Given the description of an element on the screen output the (x, y) to click on. 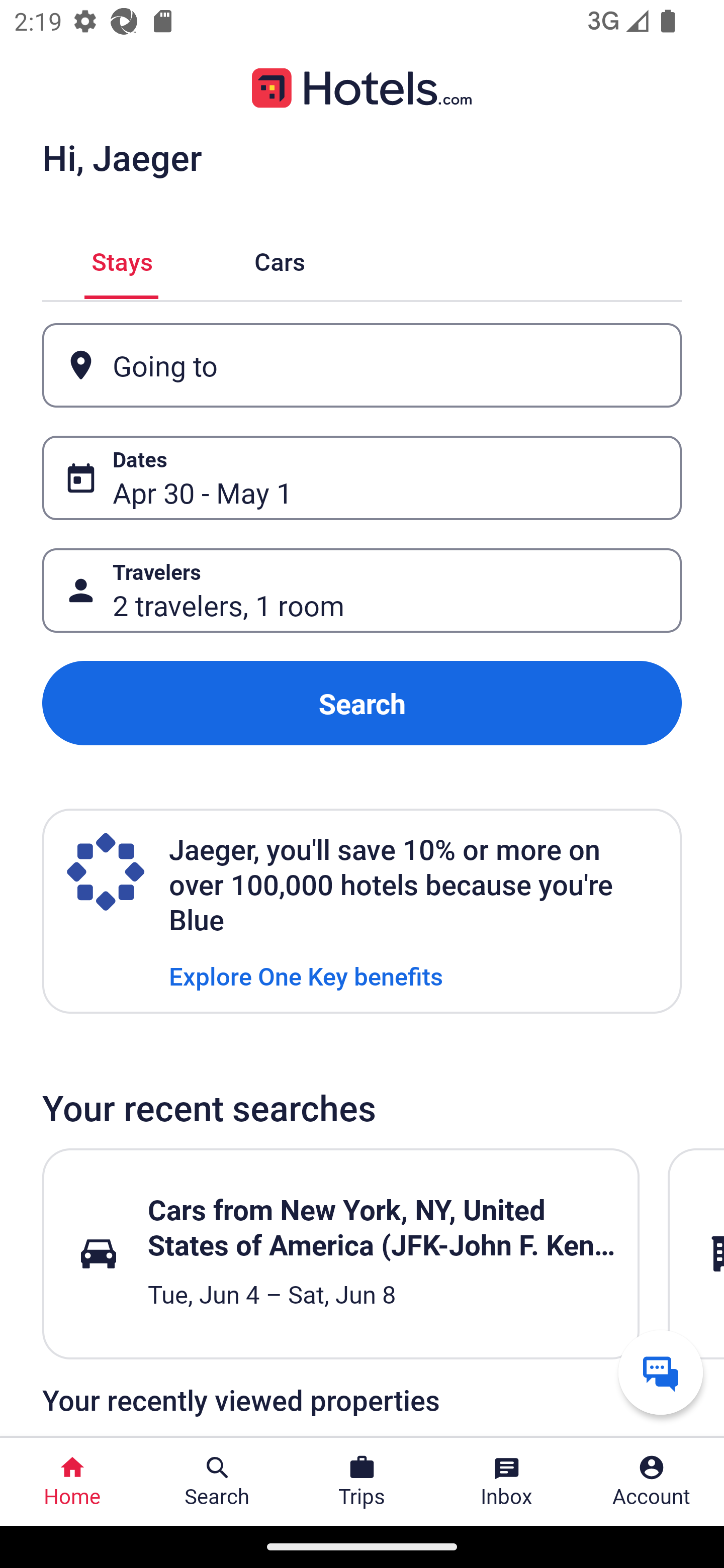
Hi, Jaeger (121, 156)
Cars (279, 259)
Going to Button (361, 365)
Dates Button Apr 30 - May 1 (361, 477)
Travelers Button 2 travelers, 1 room (361, 590)
Search (361, 702)
Get help from a virtual agent (660, 1371)
Search Search Button (216, 1481)
Trips Trips Button (361, 1481)
Inbox Inbox Button (506, 1481)
Account Profile. Button (651, 1481)
